Given the description of an element on the screen output the (x, y) to click on. 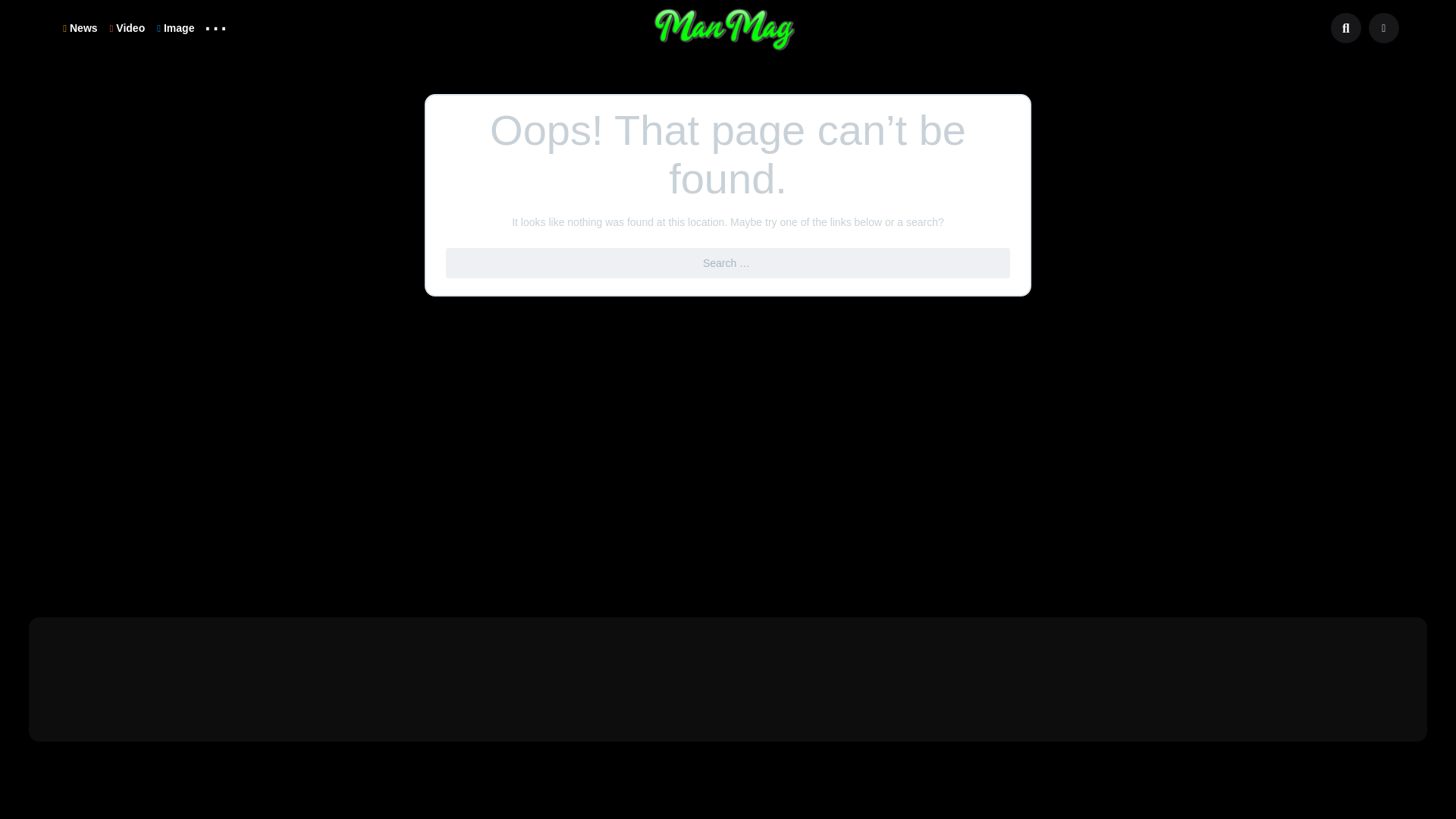
Search (21, 9)
Image (175, 27)
News (79, 27)
Video (127, 27)
